Given the description of an element on the screen output the (x, y) to click on. 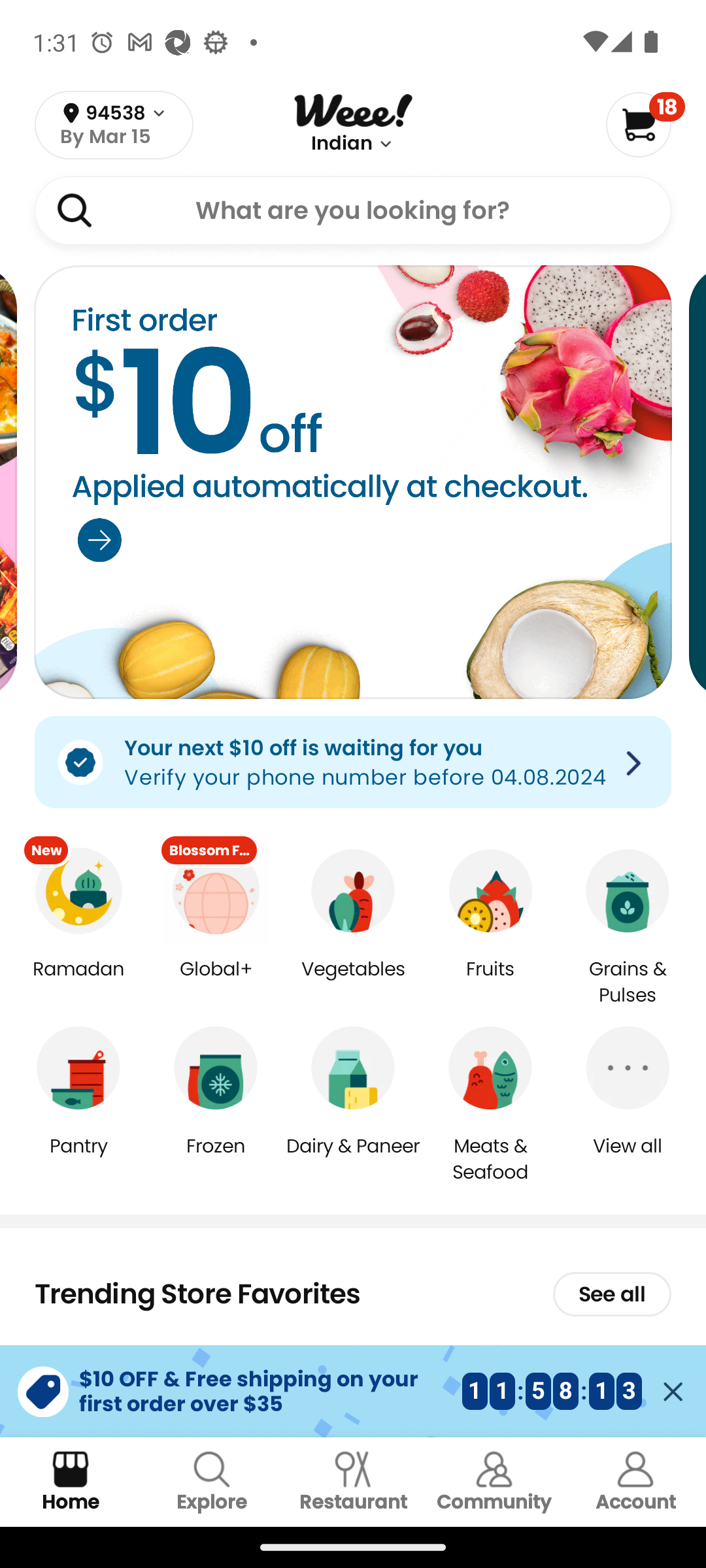
94538 By Mar 15 (113, 124)
18 (644, 124)
Indian (341, 143)
What are you looking for? (352, 209)
Ramadan (77, 982)
Global+ (215, 982)
Vegetables (352, 982)
Fruits (490, 982)
Grains & Pulses (627, 982)
Pantry (77, 1159)
Frozen (215, 1159)
Dairy & Paneer (352, 1159)
Meats & Seafood (490, 1158)
View all (627, 1159)
Home (70, 1482)
Explore (211, 1482)
Restaurant (352, 1482)
Community (493, 1482)
Account (635, 1482)
